Given the description of an element on the screen output the (x, y) to click on. 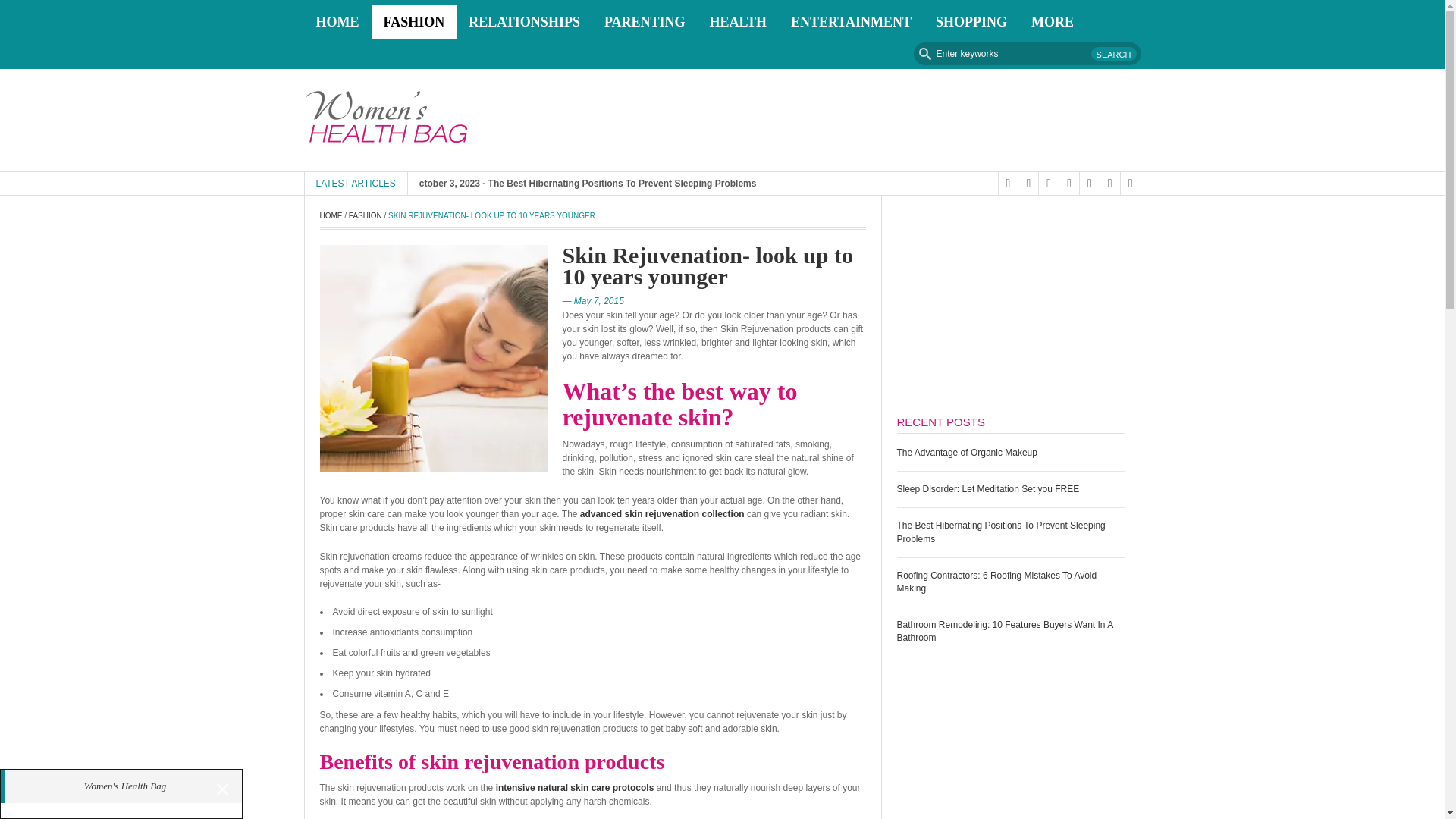
PARENTING (644, 21)
HEALTH (737, 21)
Search (1112, 53)
MORE (1052, 21)
Advertisement (1010, 739)
Advertisement (1010, 305)
RELATIONSHIPS (524, 21)
SHOPPING (971, 21)
ENTERTAINMENT (850, 21)
Enter keyworks (1026, 53)
HOME (336, 21)
Advertisement (864, 121)
Enter keyworks (1026, 53)
FASHION (414, 21)
Search (1112, 53)
